Given the description of an element on the screen output the (x, y) to click on. 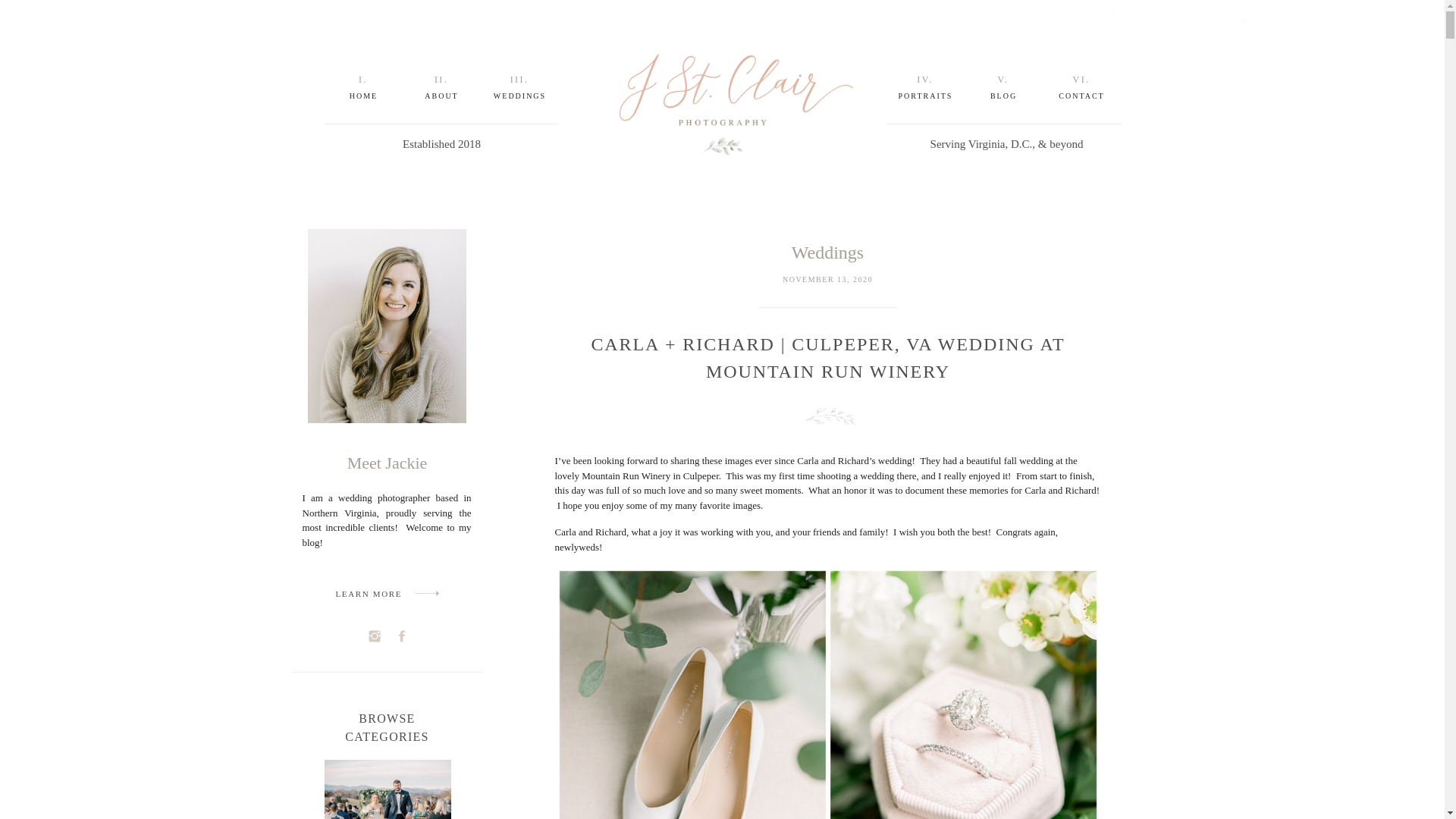
VI. (1080, 79)
Weddings (827, 252)
III. (519, 79)
ABOUT (441, 95)
PORTRAITS (925, 95)
I. (363, 79)
IV. (924, 79)
BLOG (1002, 95)
CONTACT (1082, 95)
II. (440, 79)
V. (1002, 79)
WEDDINGS (518, 95)
Path Created with Sketch. (425, 593)
Path Created with Sketch. (425, 593)
HOME (362, 95)
